Given the description of an element on the screen output the (x, y) to click on. 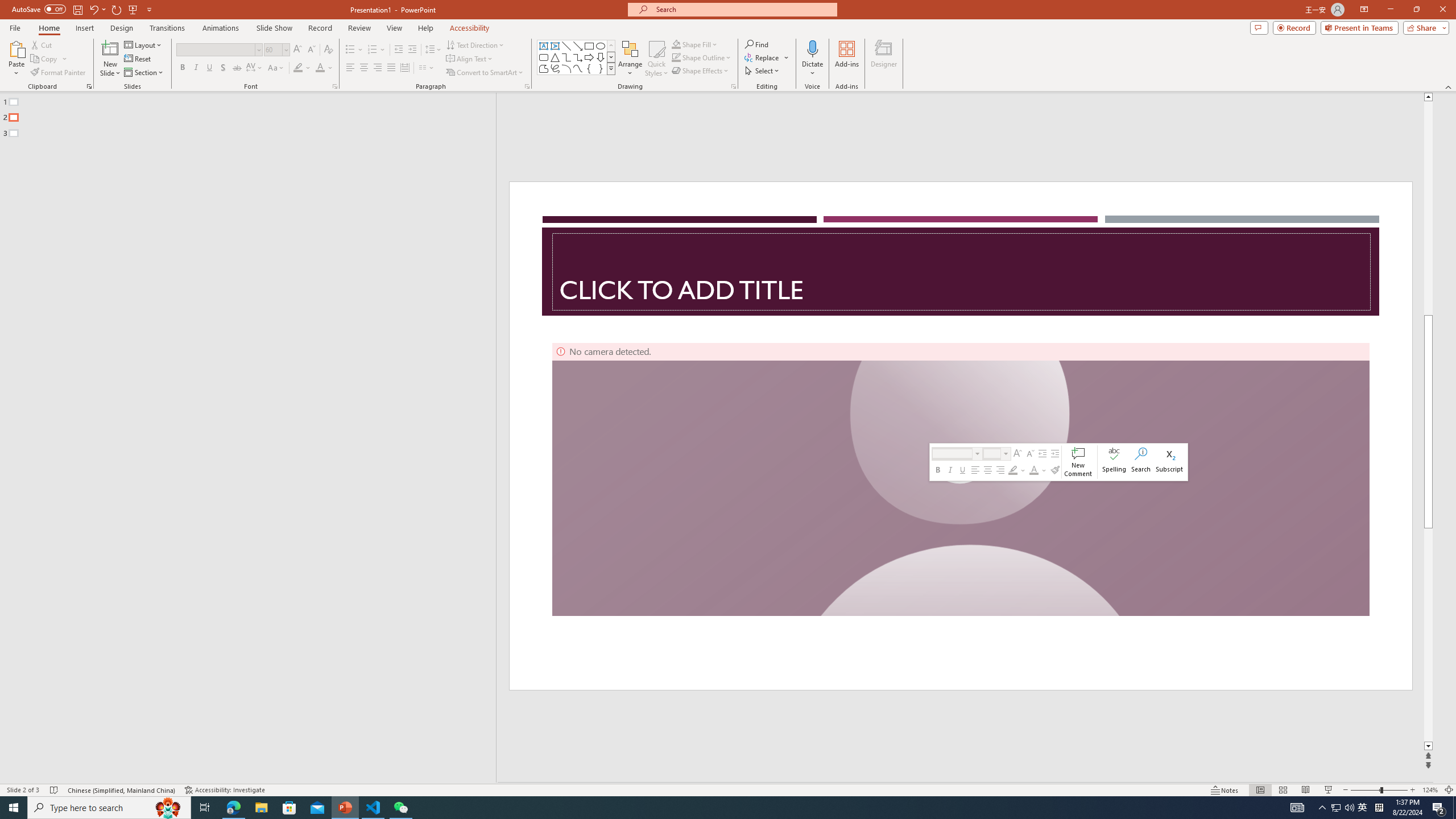
New Comment (1077, 462)
Shape Fill Orange, Accent 2 (675, 44)
